Given the description of an element on the screen output the (x, y) to click on. 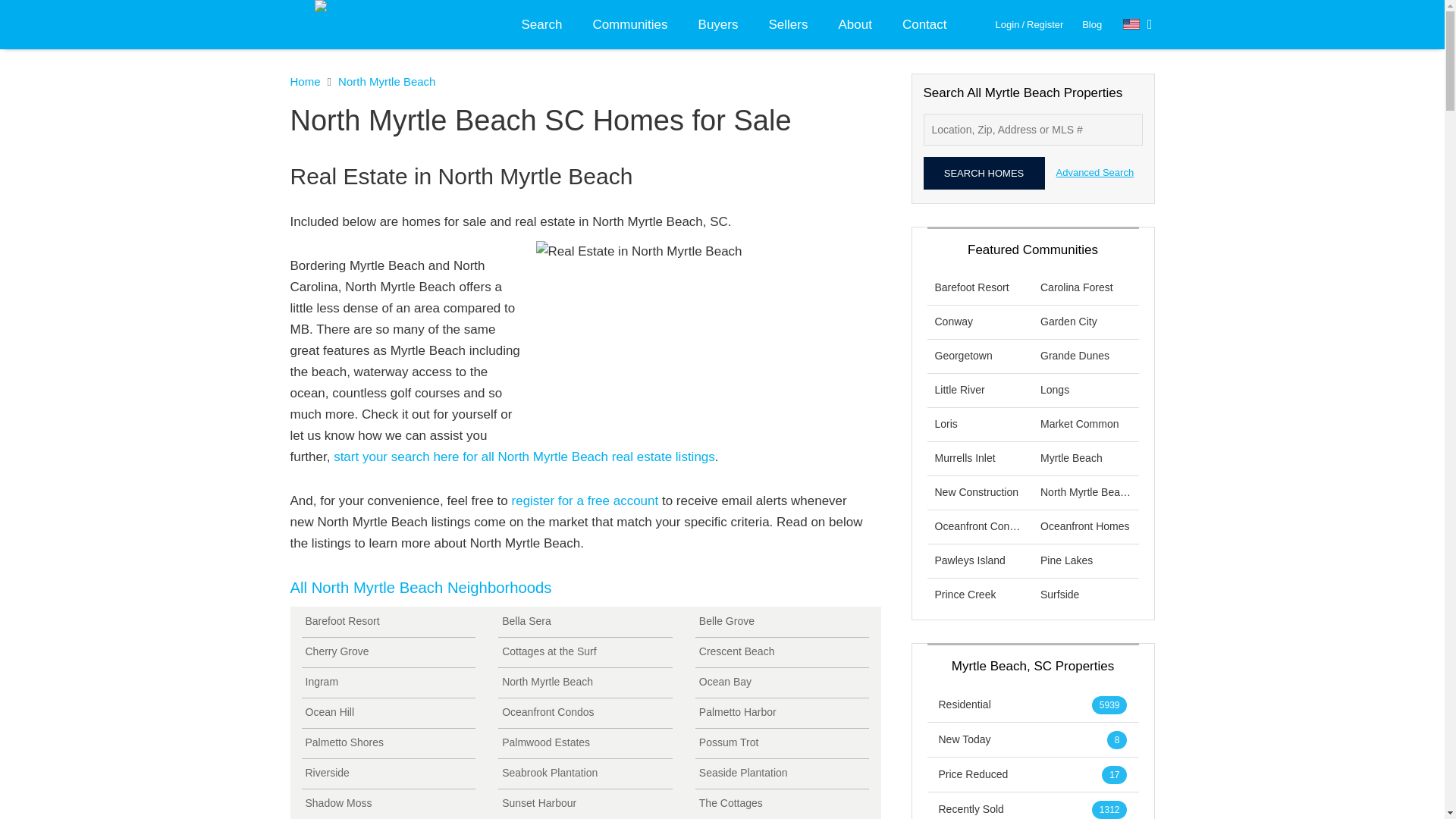
Search (542, 24)
View Barefoot Resort (388, 622)
About (854, 24)
Sellers (789, 24)
View Belle Grove (782, 622)
Contact (924, 24)
Real Estate in North Myrtle Beach (703, 335)
Select Language (1137, 24)
View Bella Sera (584, 622)
Communities (629, 24)
Buyers (718, 24)
Email Listing Alerts (585, 500)
